Given the description of an element on the screen output the (x, y) to click on. 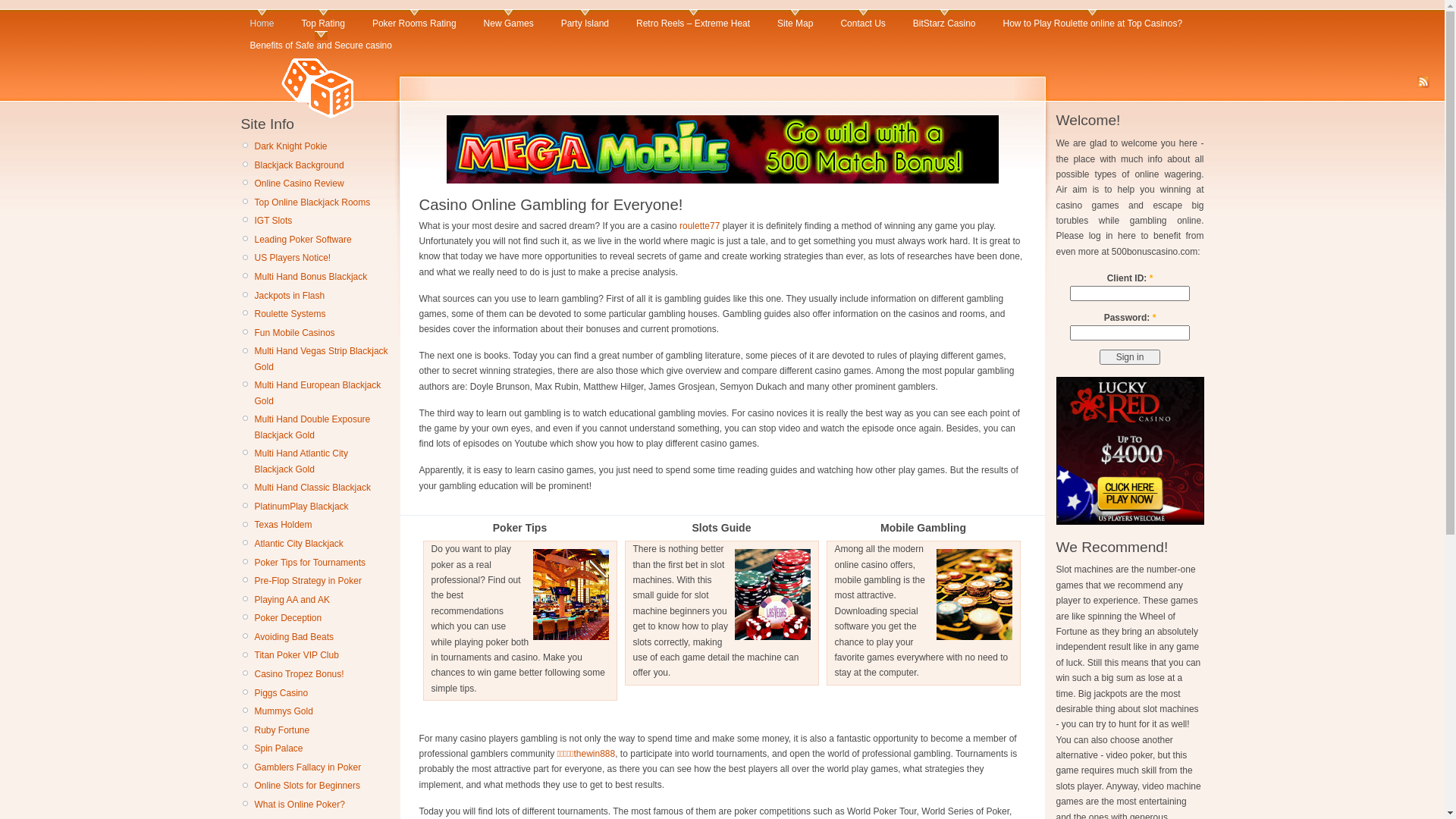
Ruby Fortune Element type: text (282, 729)
Jackpots in Flash Element type: text (289, 295)
Casino Tropez Bonus! Element type: text (299, 673)
Pre-Flop Strategy in Poker Element type: text (307, 580)
Titan Poker VIP Club Element type: text (296, 654)
Site Map Element type: text (794, 20)
Party Island Element type: text (584, 20)
Avoiding Bad Beats Element type: text (294, 636)
IGT Slots Element type: text (273, 220)
US Players Notice! Element type: text (292, 257)
21 CASINO ONLINE Element type: text (722, 77)
Spin Palace Element type: text (278, 748)
Multi Hand Classic Blackjack Element type: text (312, 487)
Leading Poker Software Element type: text (302, 239)
Texas Holdem Element type: text (283, 524)
BitStarz Casino Element type: text (944, 20)
roulette77 Element type: text (699, 225)
PlatinumPlay Blackjack Element type: text (301, 506)
Roulette Systems Element type: text (290, 313)
Poker Tips for Tournaments Element type: text (310, 561)
Mummys Gold Element type: text (283, 711)
Playing AA and AK Element type: text (291, 599)
Piggs Casino Element type: text (281, 692)
Blackjack Background Element type: text (299, 165)
Sign in Element type: text (1129, 356)
Multi Hand Atlantic City Blackjack Gold Element type: text (301, 460)
Online Slots for Beginners Element type: text (307, 785)
Home Element type: text (262, 20)
Benefits of Safe and Secure casino Element type: text (321, 42)
What is Online Poker? Element type: text (299, 804)
Top Rating Element type: text (323, 20)
Fun Mobile Casinos Element type: text (294, 332)
Online Casino Review Element type: text (299, 183)
Contact Us Element type: text (862, 20)
Multi Hand Bonus Blackjack Element type: text (310, 276)
Atlantic City Blackjack Element type: text (298, 543)
Multi Hand European Blackjack Gold Element type: text (317, 392)
Poker Deception Element type: text (288, 617)
Top Online Blackjack Rooms Element type: text (312, 202)
Gamblers Fallacy in Poker Element type: text (307, 767)
Multi Hand Double Exposure Blackjack Gold Element type: text (312, 426)
New Games Element type: text (508, 20)
How to Play Roulette online at Top Casinos? Element type: text (1092, 20)
Multi Hand Vegas Strip Blackjack Gold Element type: text (321, 358)
Dark Knight Pokie Element type: text (290, 146)
Poker Rooms Rating Element type: text (414, 20)
